Given the description of an element on the screen output the (x, y) to click on. 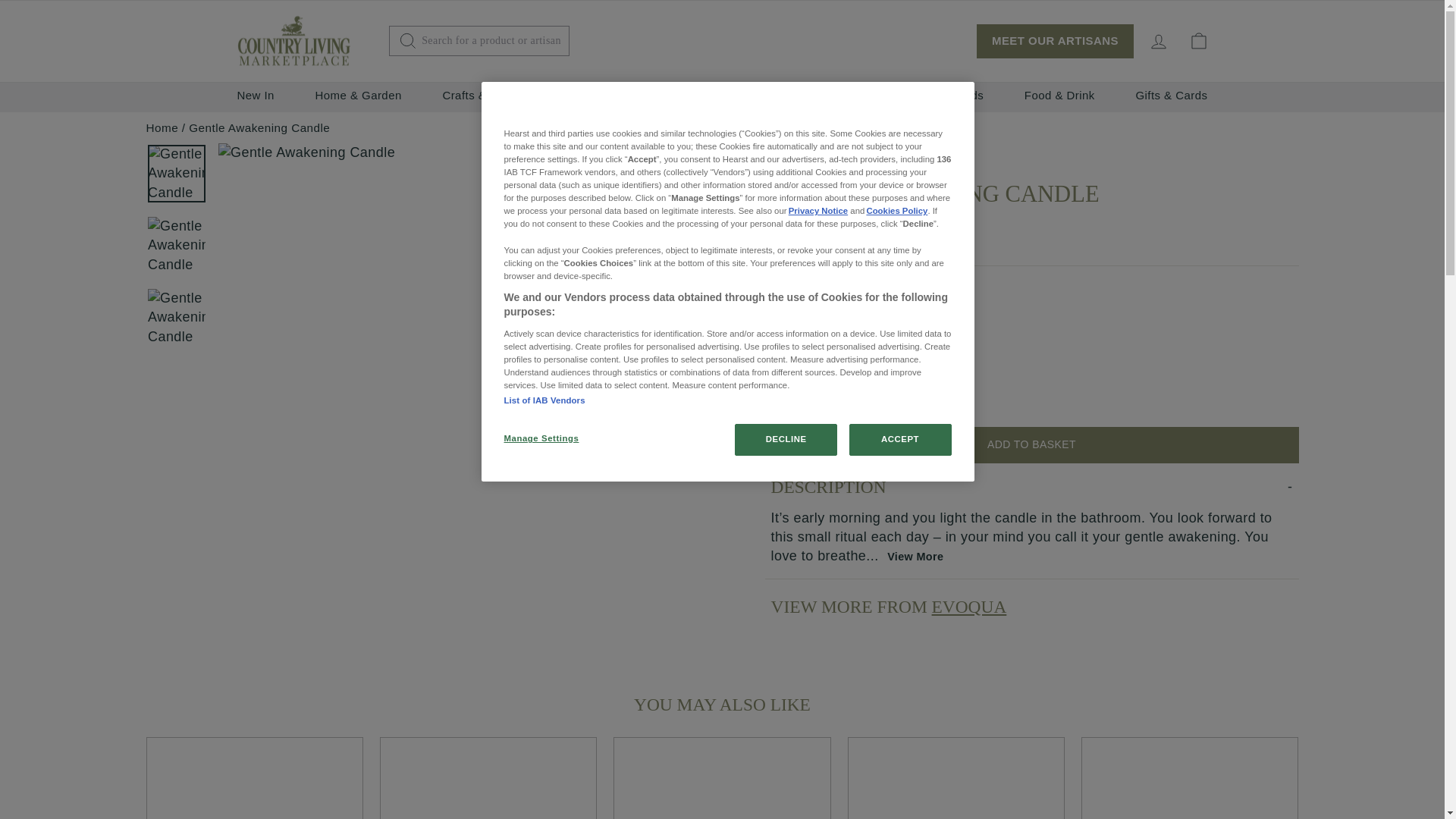
Cookies Policy (896, 210)
1 (794, 389)
Back to the frontpage (161, 127)
Privacy Notice (818, 210)
Evoqua (797, 150)
